Given the description of an element on the screen output the (x, y) to click on. 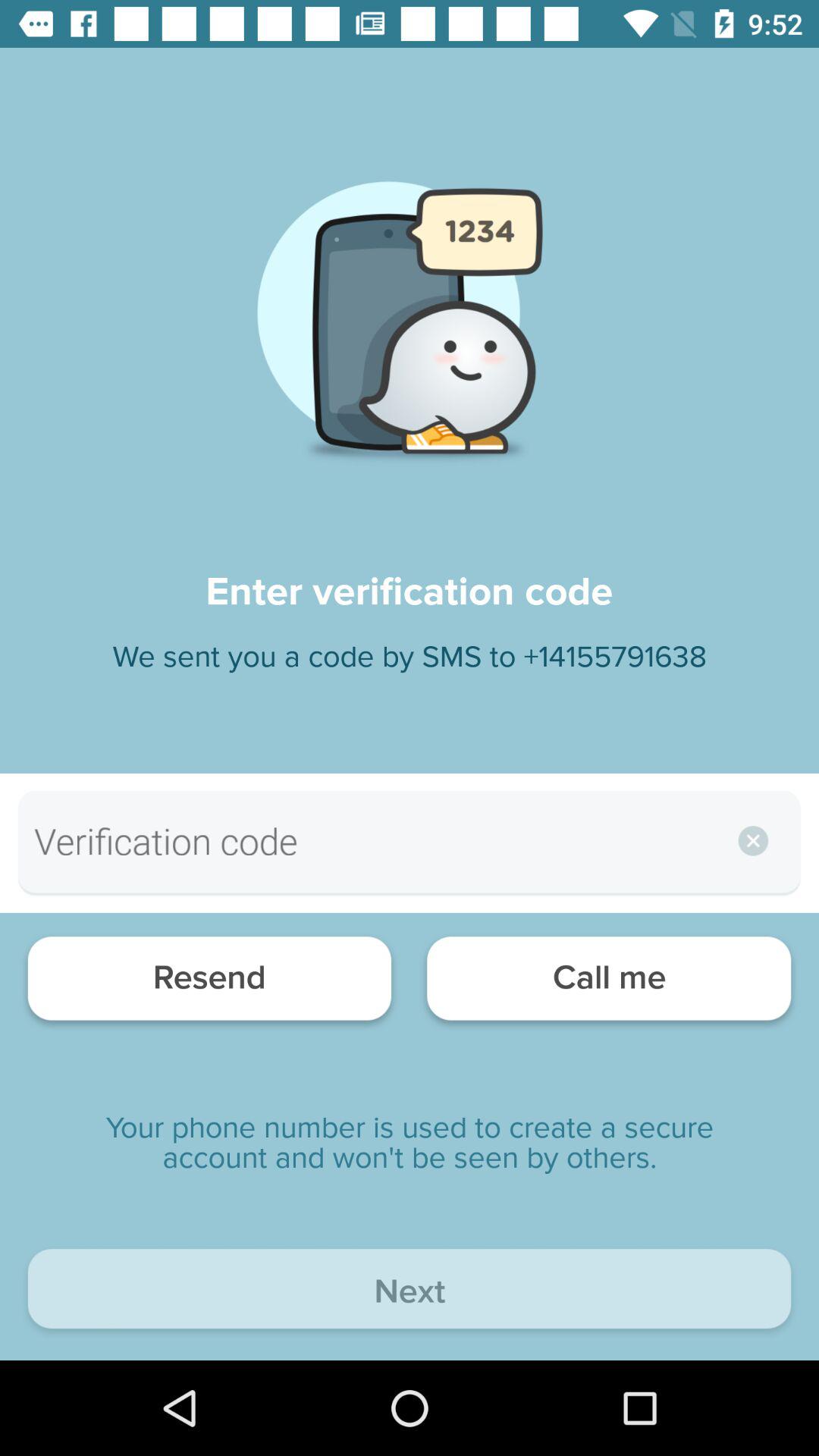
select the call me item (609, 982)
